Given the description of an element on the screen output the (x, y) to click on. 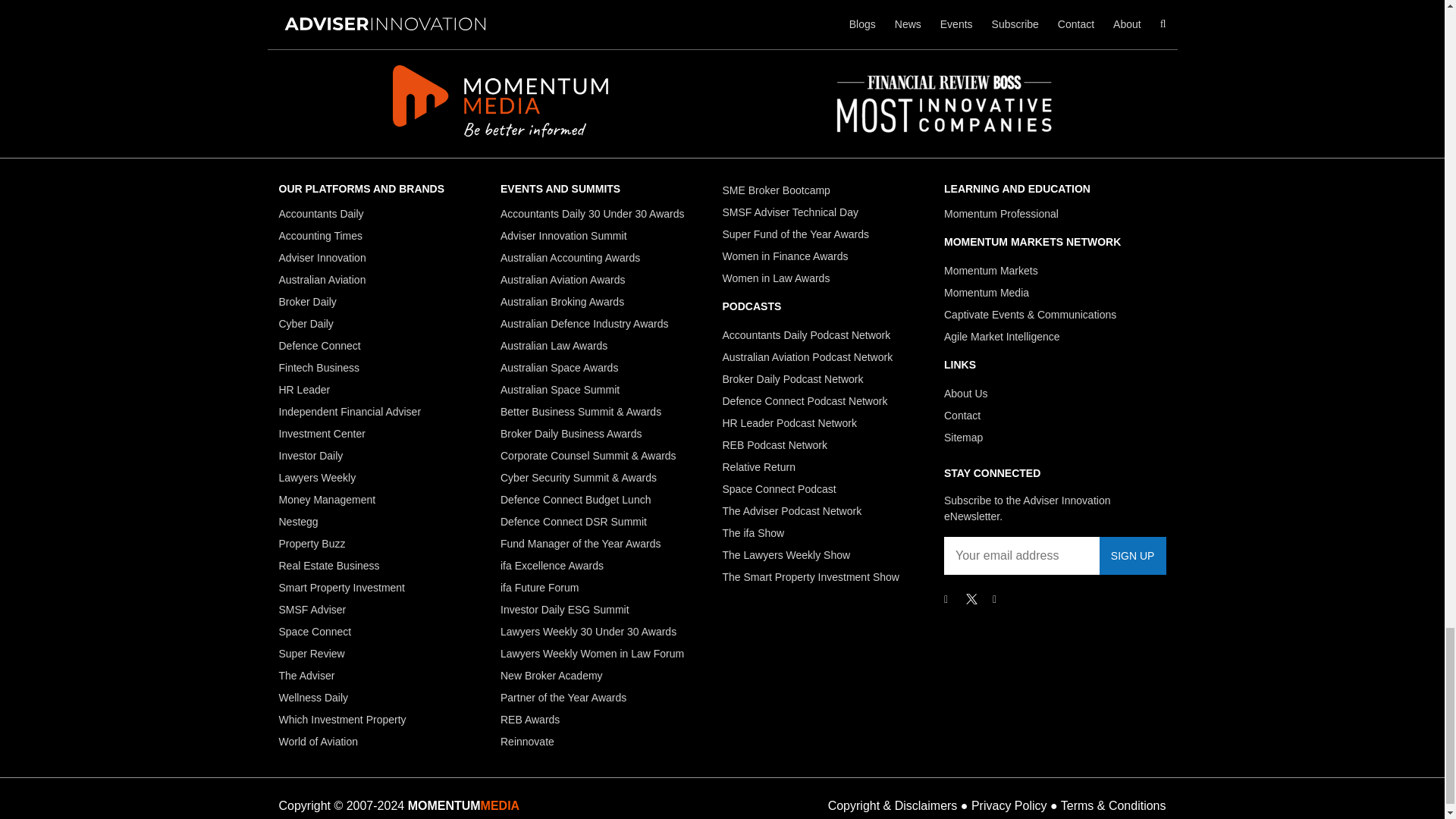
Sign up (1132, 555)
